Given the description of an element on the screen output the (x, y) to click on. 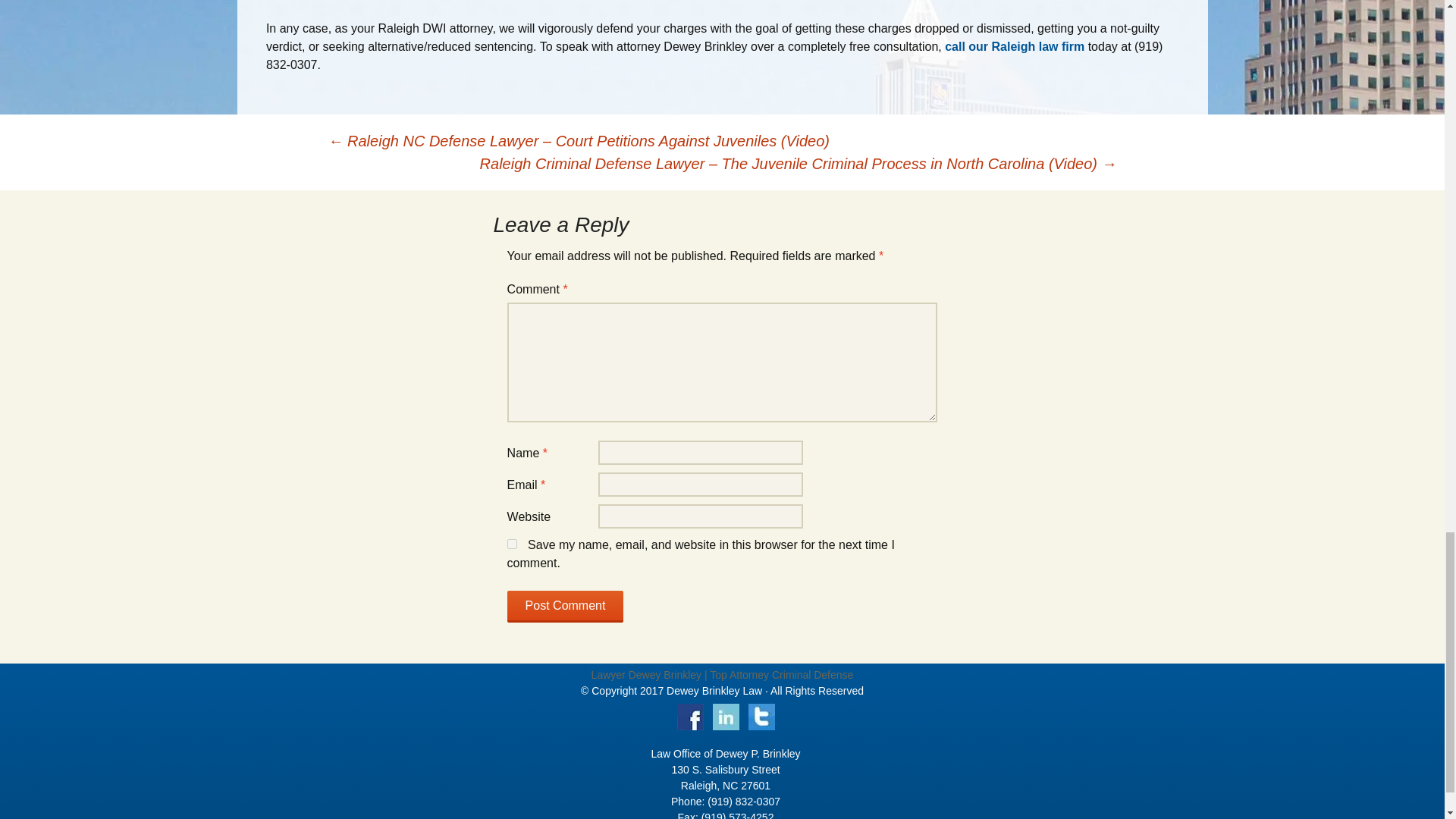
Post Comment (565, 606)
yes (511, 543)
